Given the description of an element on the screen output the (x, y) to click on. 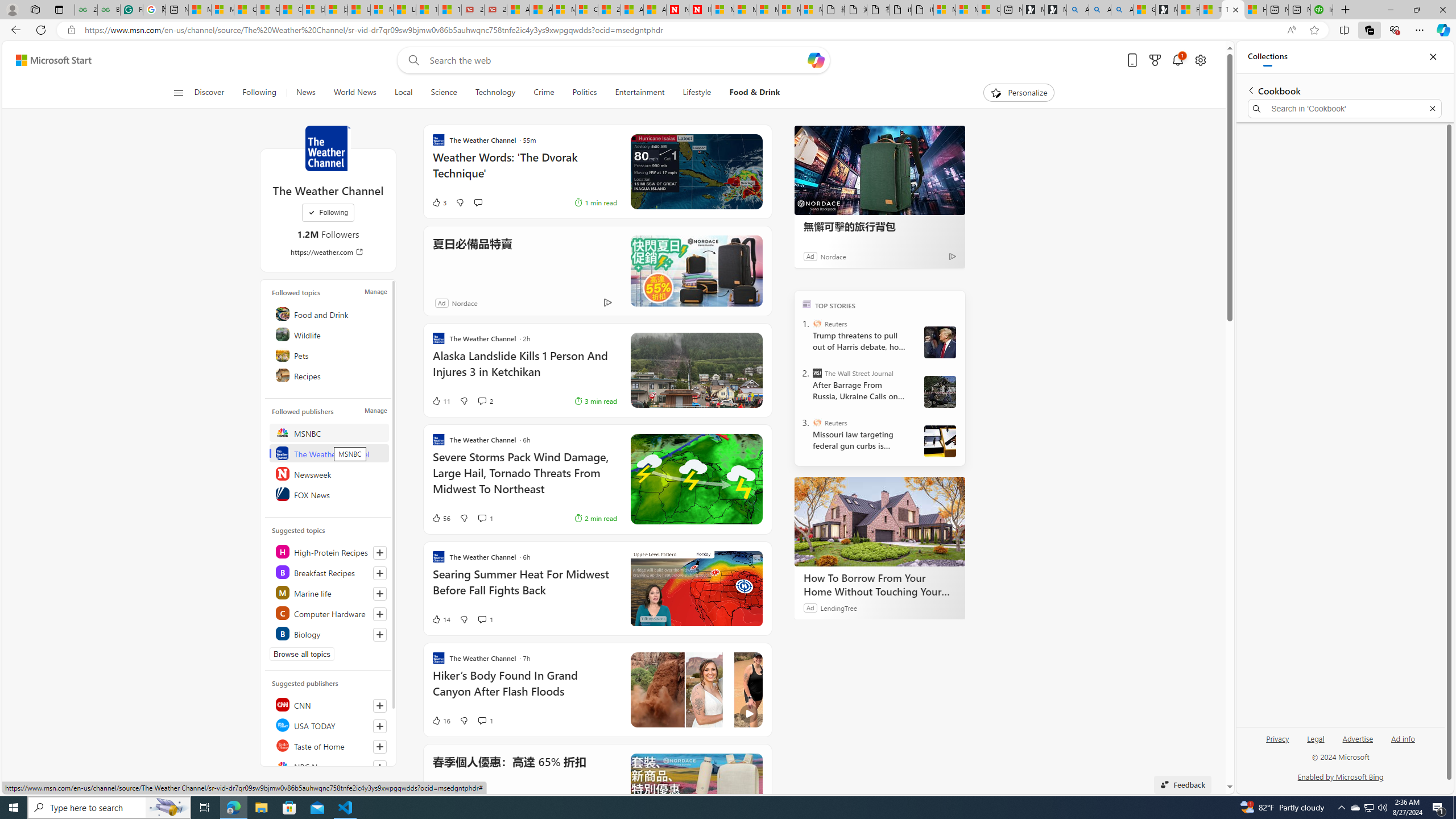
14 Like (440, 619)
Taste of Home (328, 745)
Newsweek - News, Analysis, Politics, Business, Technology (677, 9)
Consumer Health Data Privacy Policy (988, 9)
Weather Words: 'The Dvorak Technique' (524, 171)
